Given the description of an element on the screen output the (x, y) to click on. 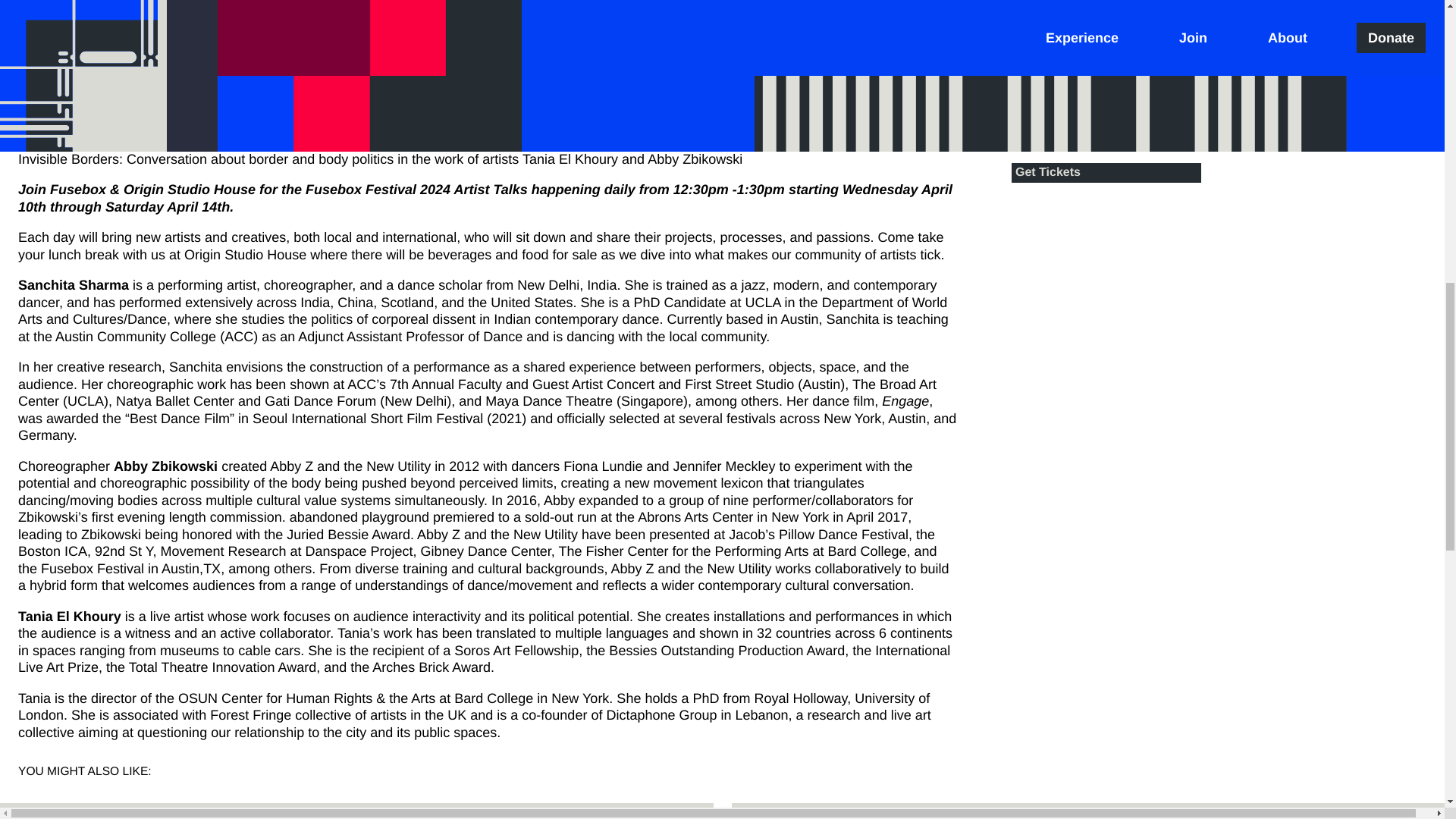
Map to venue (1098, 100)
Abby Z and the New Utility (98, 66)
Wheelchair Accessible (1123, 84)
Tania El Khoury (230, 66)
